Given the description of an element on the screen output the (x, y) to click on. 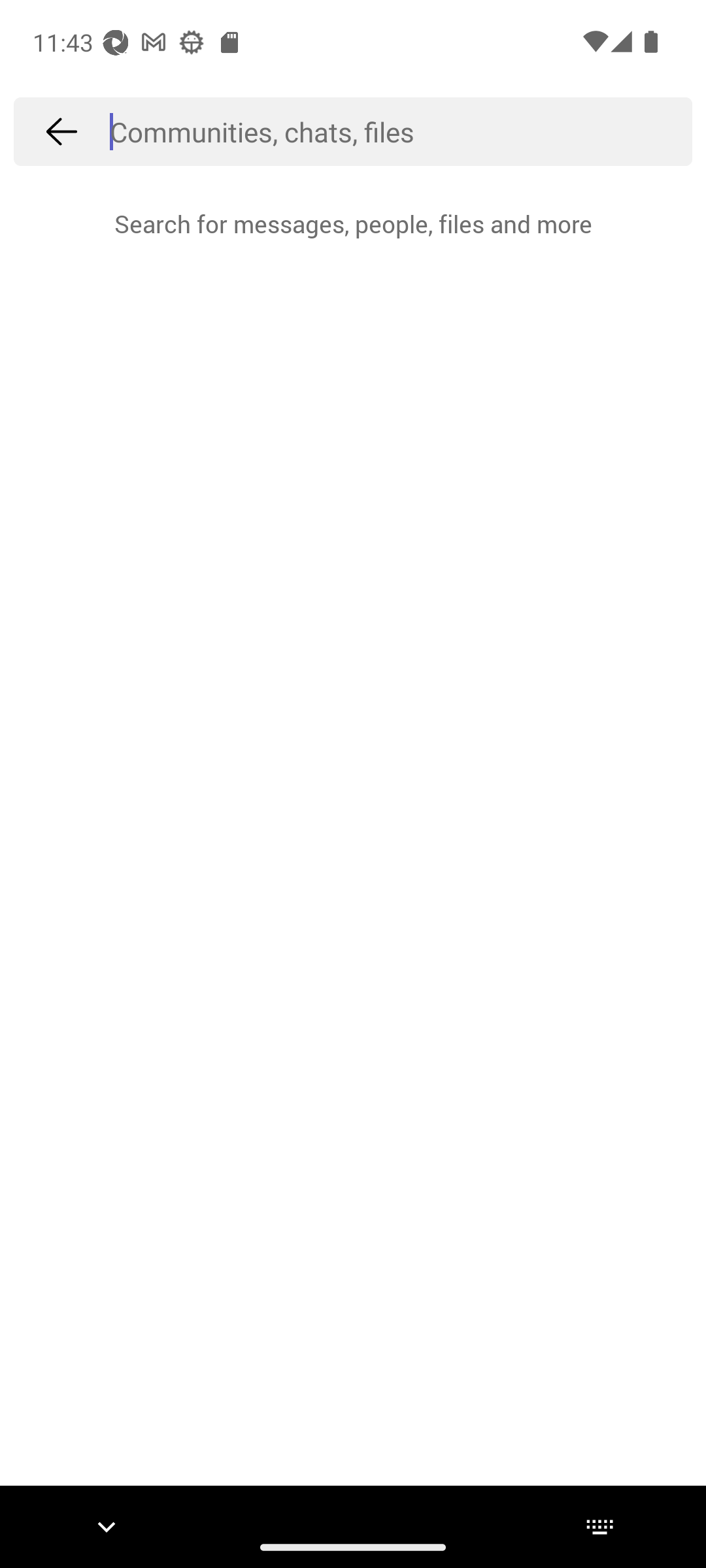
Back (61, 131)
Search for communities, chats, files and more (401, 131)
